Given the description of an element on the screen output the (x, y) to click on. 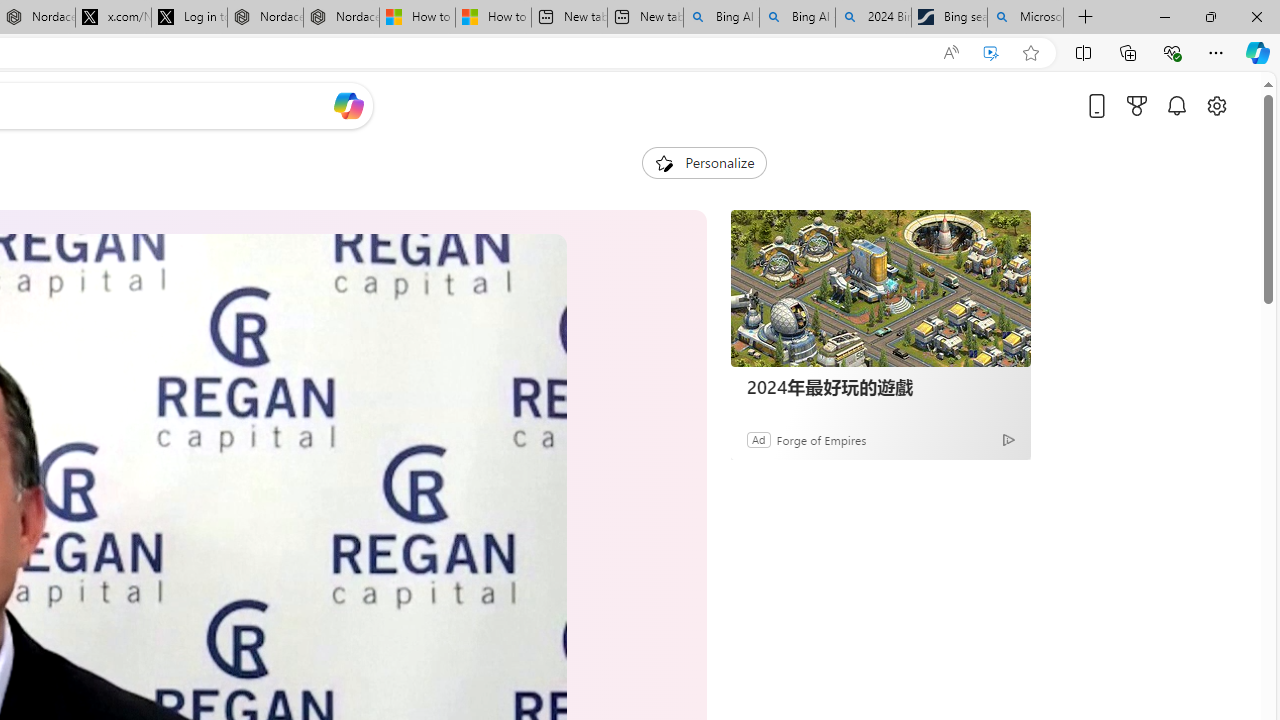
Enhance video (991, 53)
x.com/NordaceOfficial (113, 17)
Bing AI - Search (797, 17)
Open settings (1216, 105)
Bing search market share worldwide 2024 | Statista (948, 17)
